Given the description of an element on the screen output the (x, y) to click on. 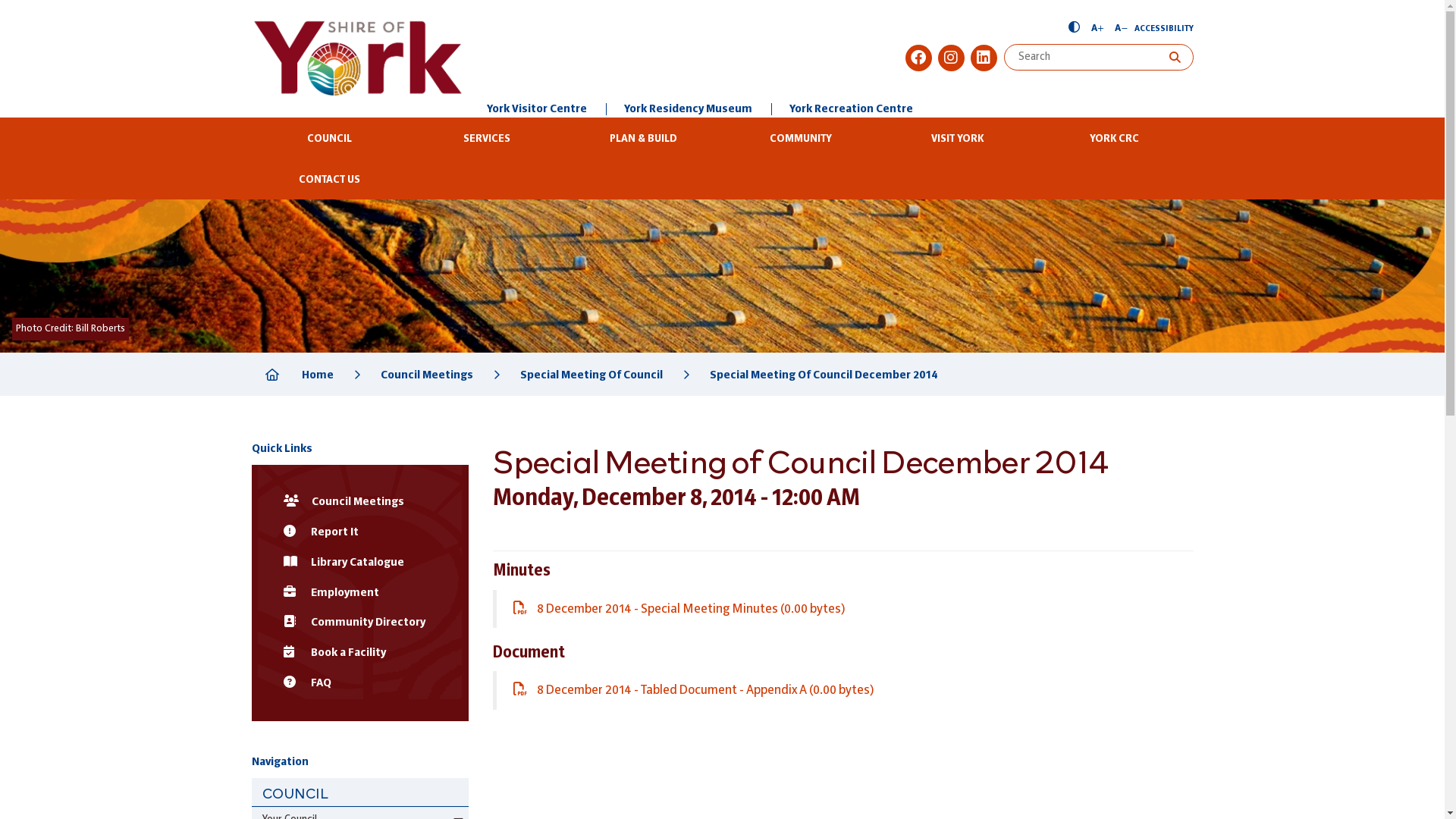
Visit us on Instagram Element type: hover (950, 57)
Home Element type: text (317, 373)
Special Meeting Of Council Element type: text (591, 373)
Visit us on LinkedIn Element type: hover (983, 57)
SERVICES Element type: text (485, 137)
CONTACT US Element type: text (329, 178)
COUNCIL Element type: text (329, 137)
COUNCIL Element type: text (360, 792)
Report It Element type: text (360, 532)
COMMUNITY Element type: text (799, 137)
VISIT YORK Element type: text (956, 137)
Community Directory Element type: text (360, 623)
High contrast Element type: hover (1073, 28)
Employment Element type: text (360, 592)
Special Meeting Of Council December 2014 Element type: text (823, 373)
Council Meetings Element type: text (426, 373)
FAQ Element type: text (360, 683)
A Element type: text (1096, 28)
Library Catalogue Element type: text (360, 562)
Visit us on Facebook Element type: hover (918, 57)
York Recreation Centre Element type: text (850, 109)
York Residency Museum Element type: text (687, 109)
Book a Facility Element type: text (360, 653)
8 December 2014 - Special Meeting Minutes (0.00 bytes) Element type: text (678, 609)
PLAN & BUILD Element type: text (642, 137)
8 December 2014 - Tabled Document - Appendix A (0.00 bytes) Element type: text (693, 690)
Council Meetings Element type: text (360, 502)
York Visitor Centre Element type: text (536, 109)
A Element type: text (1121, 28)
YORK CRC Element type: text (1113, 137)
